Given the description of an element on the screen output the (x, y) to click on. 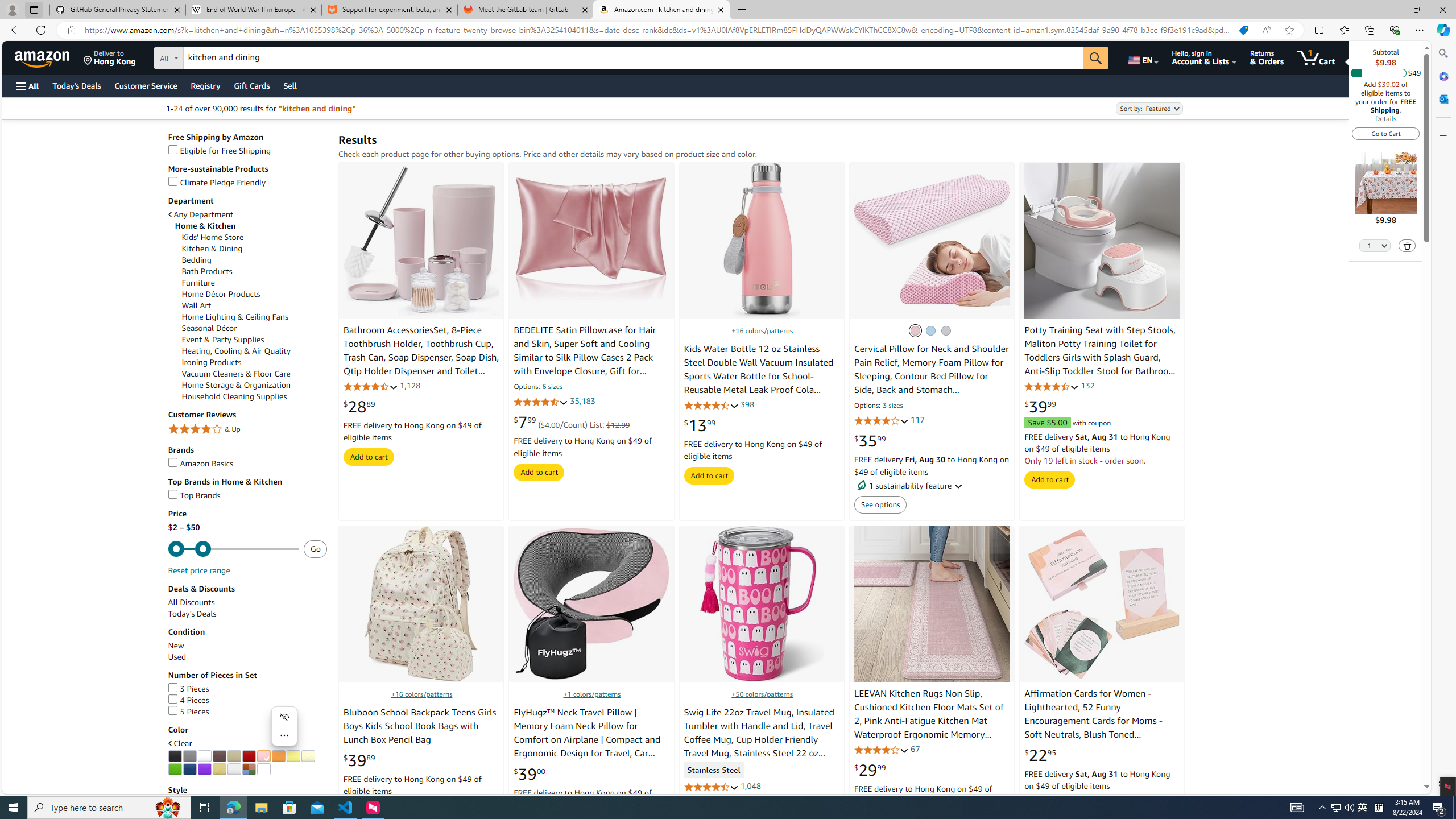
Sell (290, 85)
Kitchen & Dining (212, 248)
New (175, 645)
Furniture (254, 282)
Go to Cart (1385, 133)
Ivory (307, 756)
67 (915, 748)
Clear (263, 769)
Brown (218, 756)
Bedding (254, 260)
398 (746, 403)
Grey (189, 756)
All Discounts (191, 602)
